Given the description of an element on the screen output the (x, y) to click on. 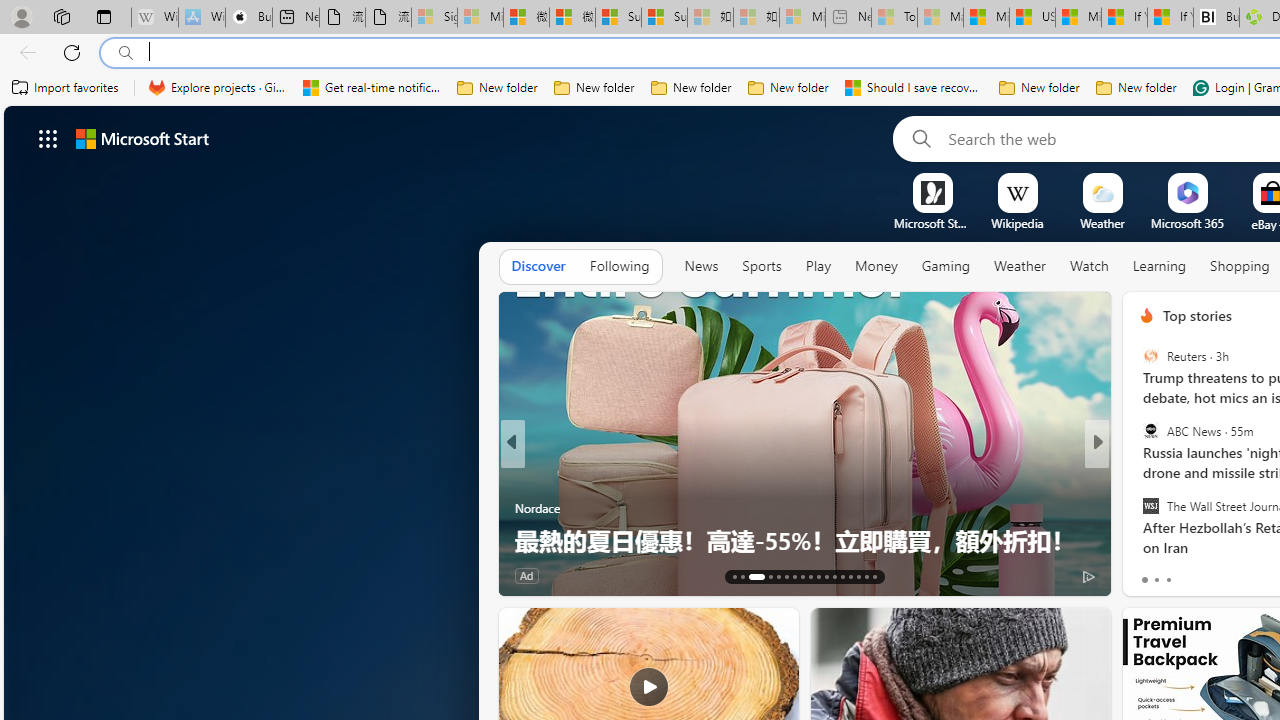
Money (876, 267)
